Given the description of an element on the screen output the (x, y) to click on. 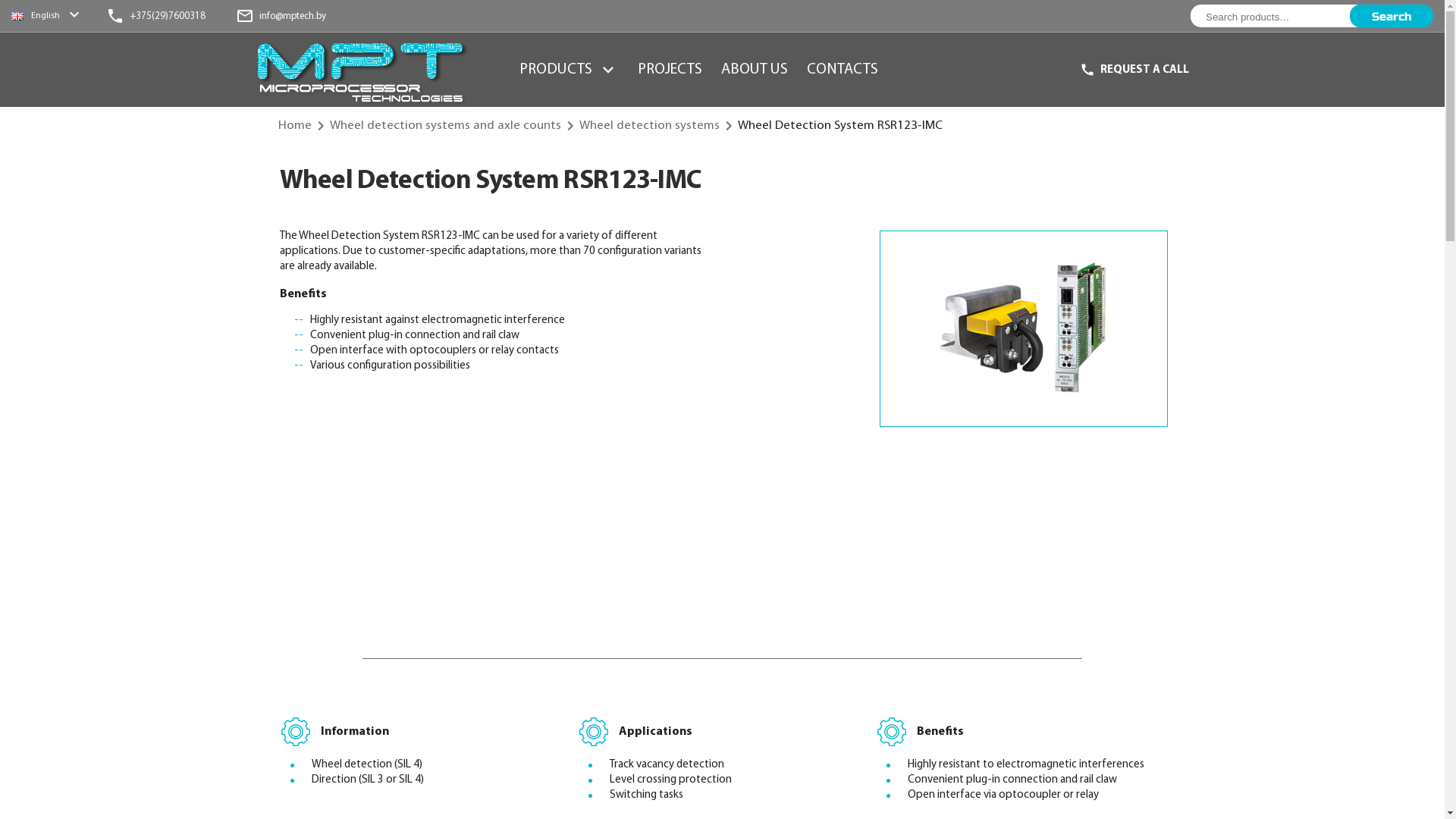
Wheel detection systems Element type: text (649, 125)
Search Element type: text (1391, 15)
PROJECTS Element type: text (669, 69)
mail_outline
info@mptech.by Element type: text (280, 15)
Wheel detection systems and axle counts Element type: text (444, 125)
ABOUT US Element type: text (754, 69)
RSR123-IMC Element type: hover (1023, 328)
local_phone
+375(29)7600318 Element type: text (155, 15)
call
REQUEST A CALL Element type: text (1134, 69)
CONTACTS Element type: text (842, 69)
PRODUCTS Element type: text (555, 69)
English
keyboard_arrow_down Element type: text (47, 15)
Home Element type: text (293, 125)
